Given the description of an element on the screen output the (x, y) to click on. 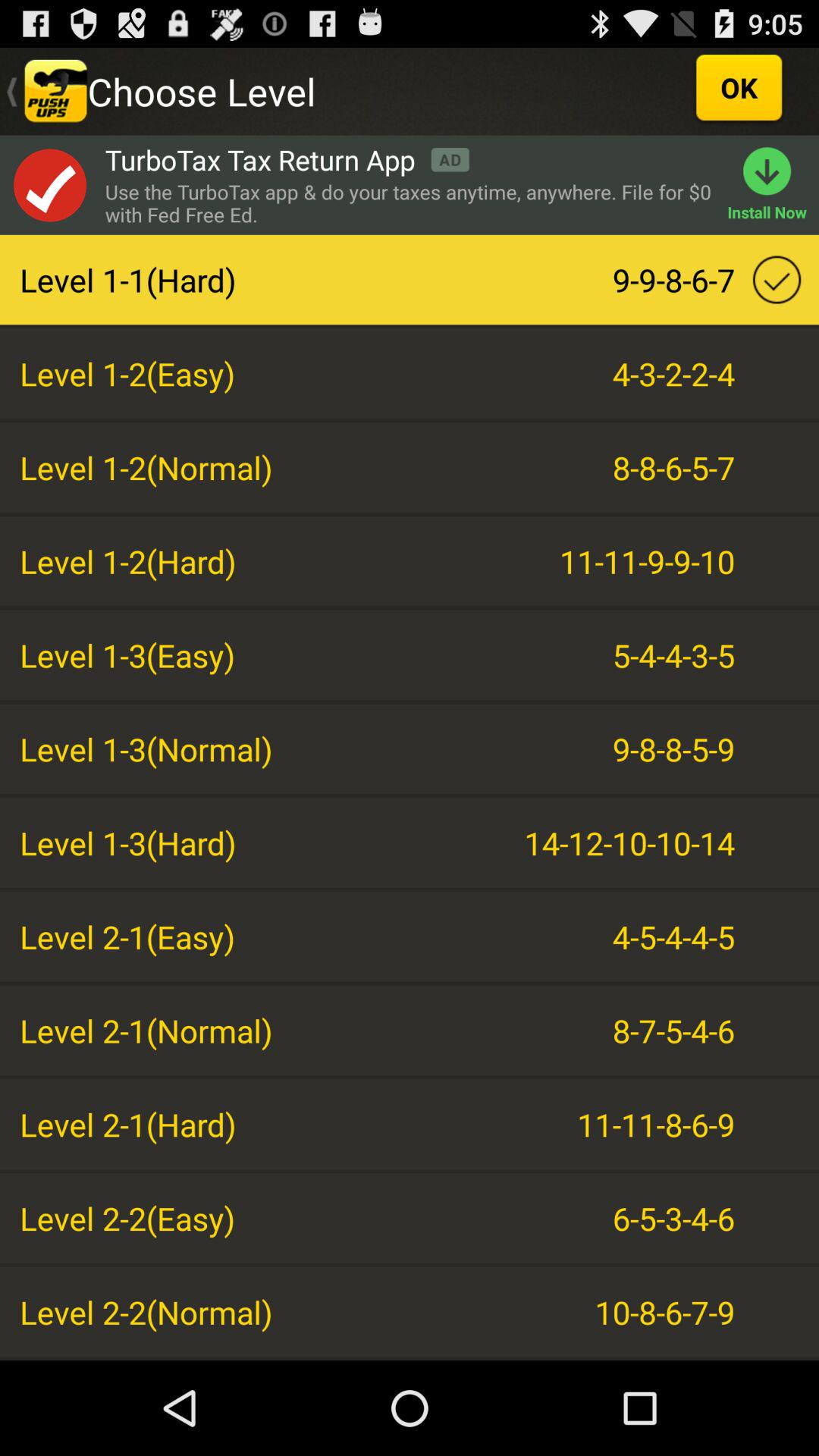
open (49, 184)
